Given the description of an element on the screen output the (x, y) to click on. 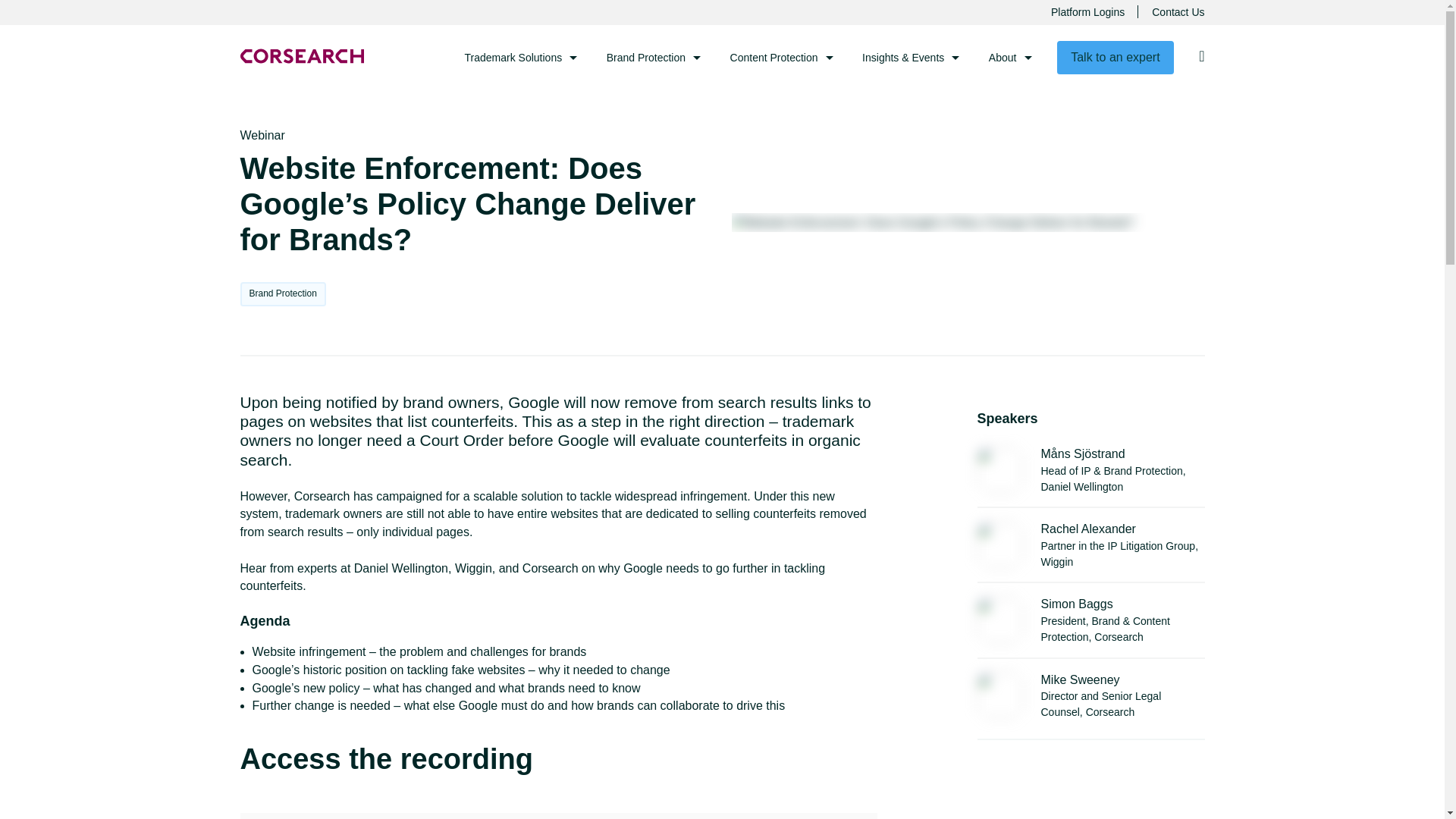
Brand Protection (653, 56)
Return to the Corsearch homepage (301, 55)
Platform Logins (1087, 12)
Platform Logins (1087, 12)
Contact Us (1177, 12)
Trademark Solutions (520, 56)
Brand Protection (653, 56)
About (1010, 56)
Trademark Solutions (520, 56)
Contact Us (1177, 12)
Content Protection (781, 56)
